Given the description of an element on the screen output the (x, y) to click on. 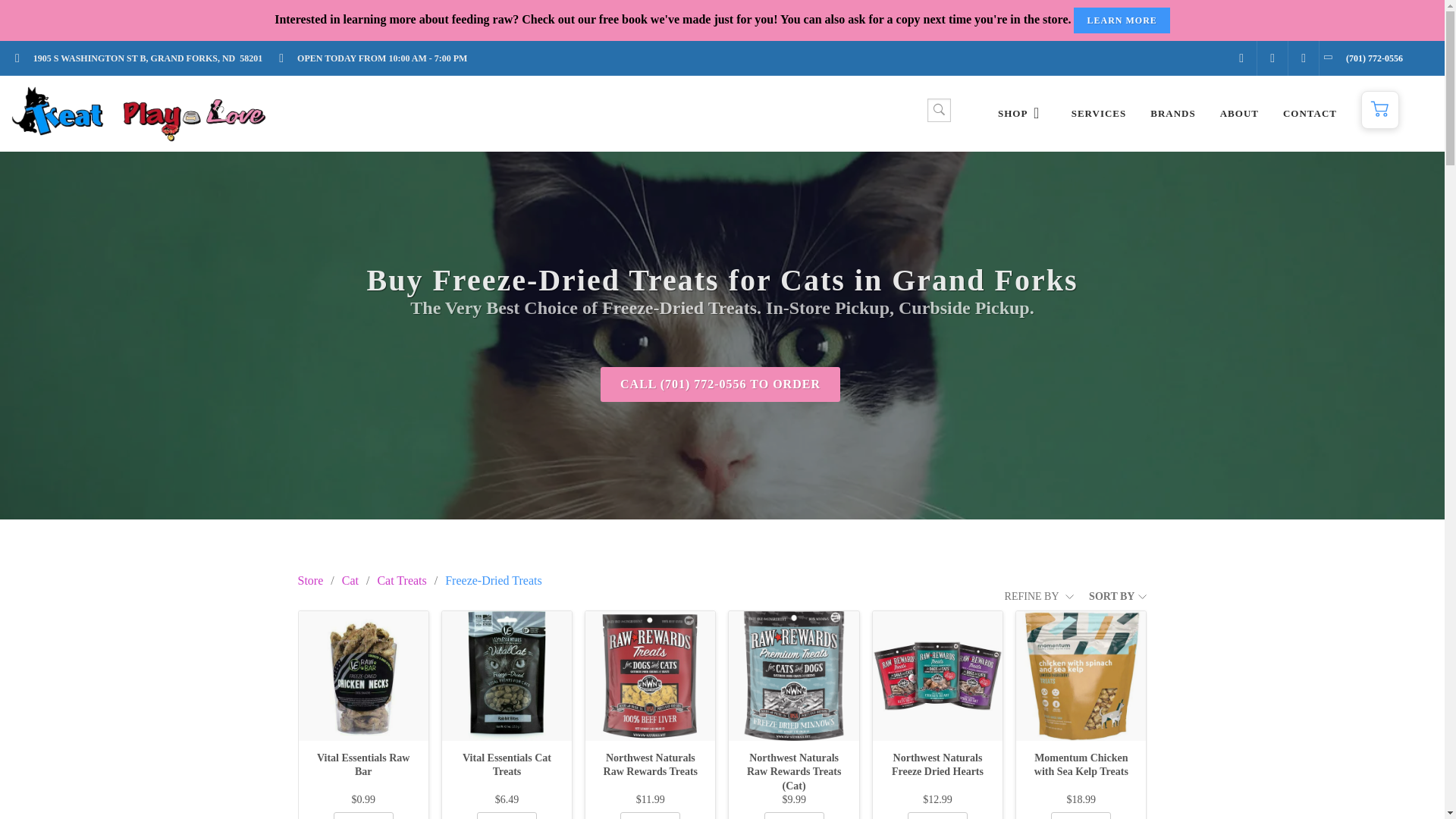
OPEN TODAY FROM 10:00 AM - 7:00 PM (377, 57)
SHOP (1022, 113)
Treat Play Love Shop Near Grand Forks (1022, 113)
Treat Play Love Contact Near Grand Forks (1309, 113)
Treat Play Love Services Near Grand Forks (1098, 113)
Treat Play Love Brands Near Grand Forks (1172, 113)
1905 S WASHINGTON ST B, GRAND FORKS, ND  58201 (143, 57)
LEARN MORE (1121, 20)
